Given the description of an element on the screen output the (x, y) to click on. 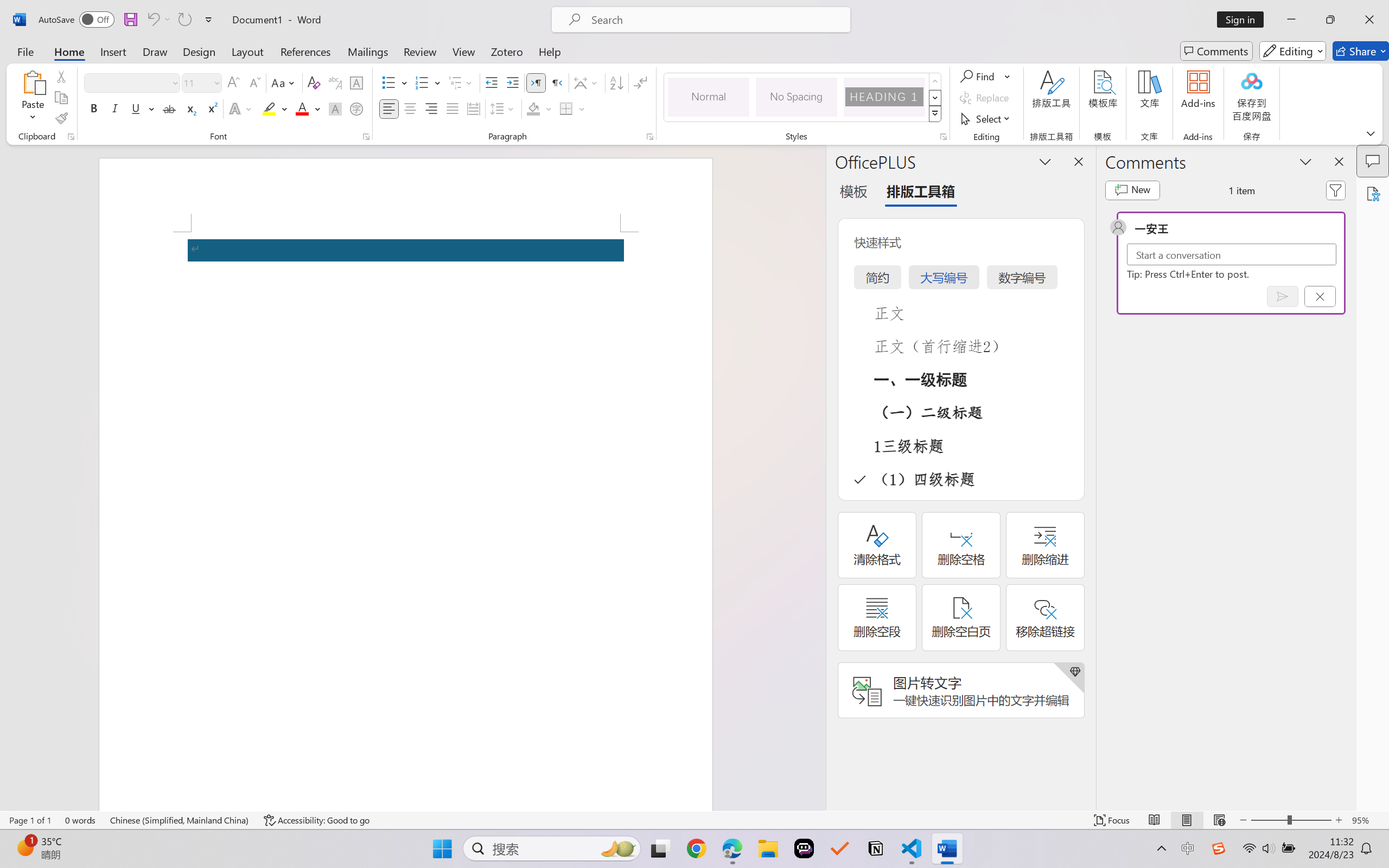
Shading No Color (533, 108)
Filter (1335, 190)
